Given the description of an element on the screen output the (x, y) to click on. 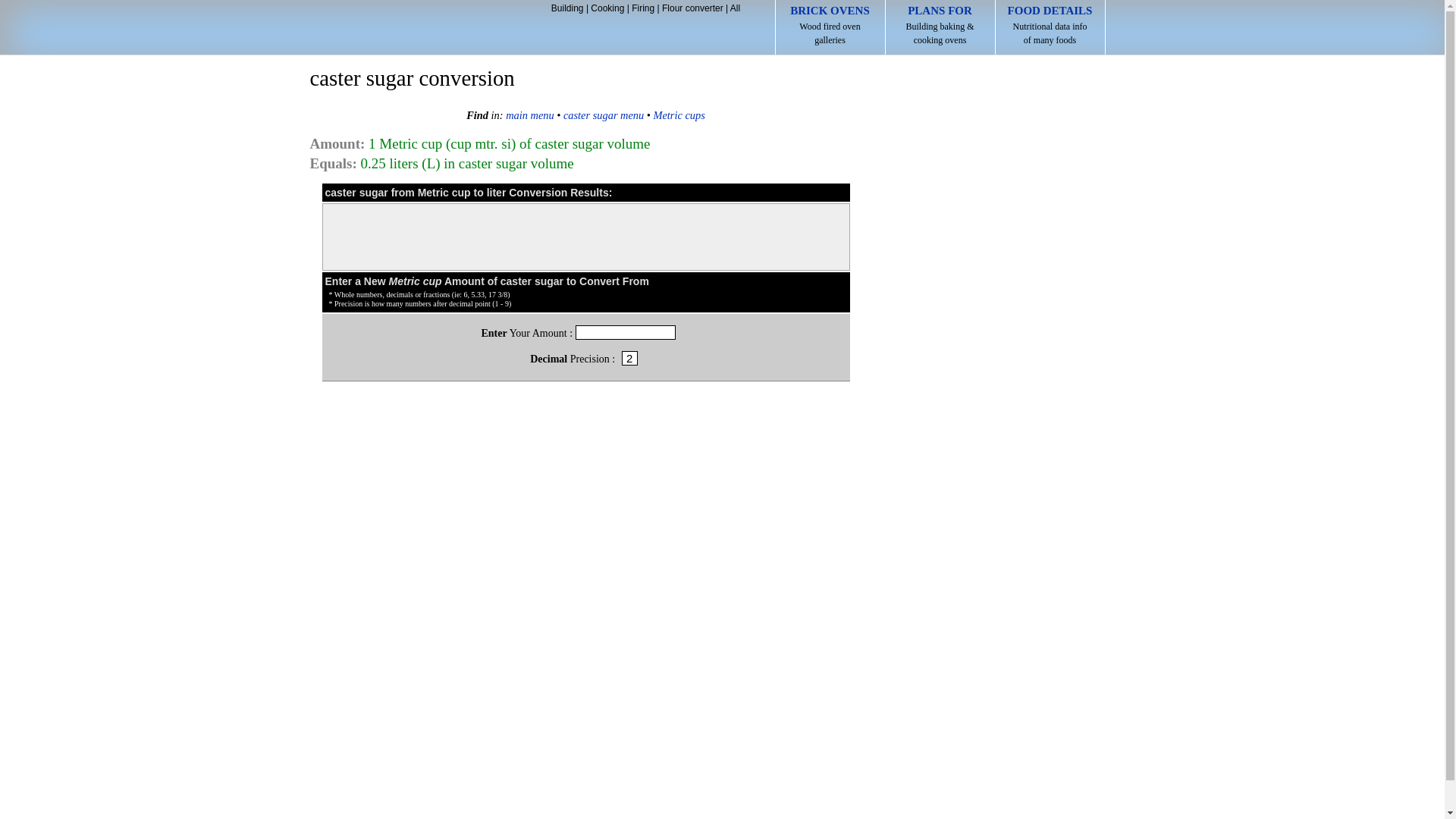
Cooking (607, 8)
2 (629, 358)
Traditional oven (829, 27)
caster sugar menu (411, 28)
All (603, 114)
Full caster sugar menu. (734, 8)
Home (603, 114)
Building (411, 28)
Firing (567, 8)
main menu (642, 8)
From Metric cups culinary arts tools. (529, 114)
Sugar products section multimenu. (678, 114)
Metric cups (1049, 27)
